Given the description of an element on the screen output the (x, y) to click on. 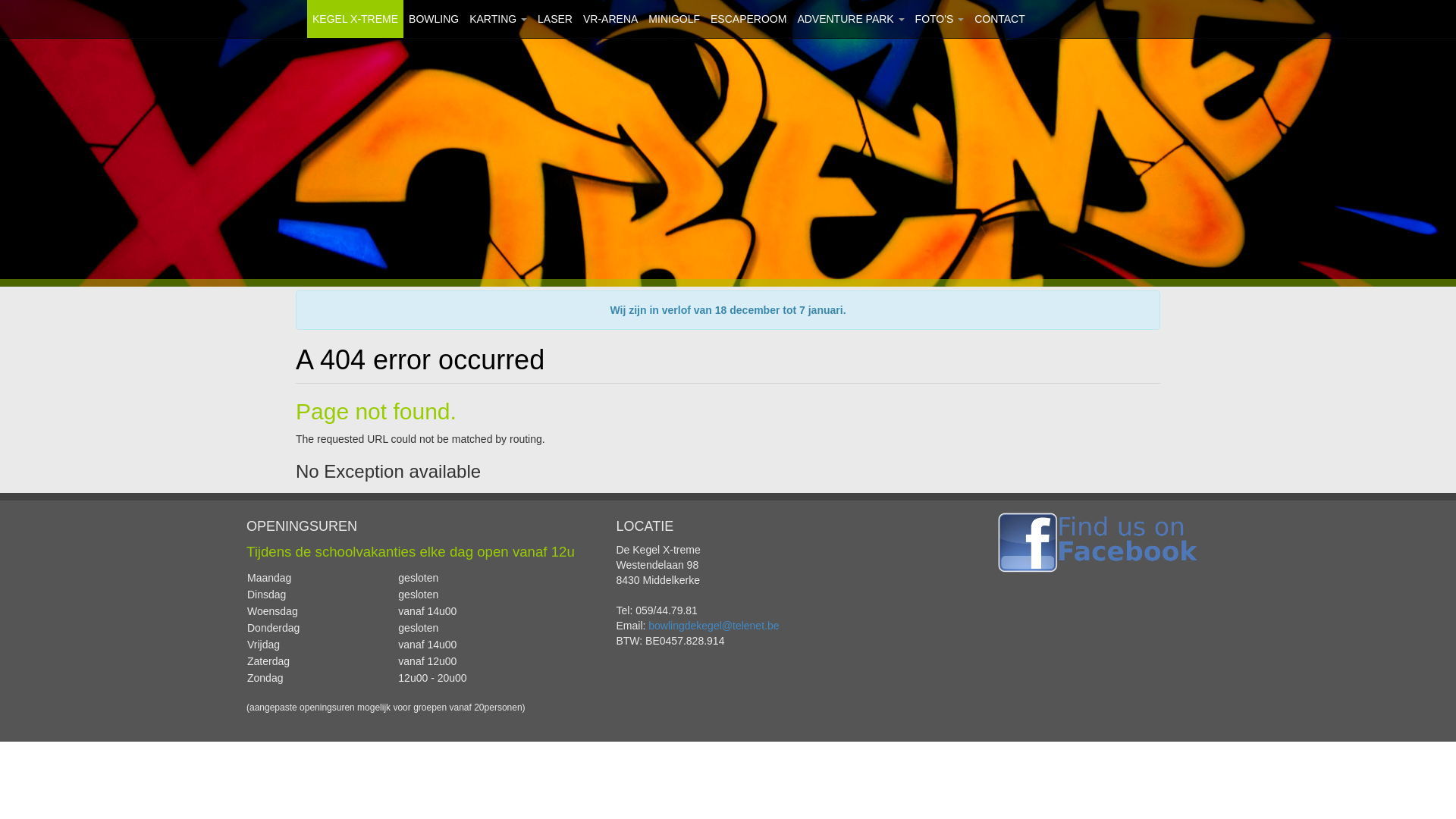
CONTACT Element type: text (999, 18)
LASER Element type: text (554, 18)
VR-ARENA Element type: text (610, 18)
FOTO'S Element type: text (939, 18)
KEGEL X-TREME Element type: text (355, 18)
ADVENTURE PARK Element type: text (850, 18)
BOWLING Element type: text (433, 18)
MINIGOLF Element type: text (674, 18)
KARTING Element type: text (498, 18)
ESCAPEROOM Element type: text (748, 18)
bowlingdekegel@telenet.be Element type: text (713, 625)
